Given the description of an element on the screen output the (x, y) to click on. 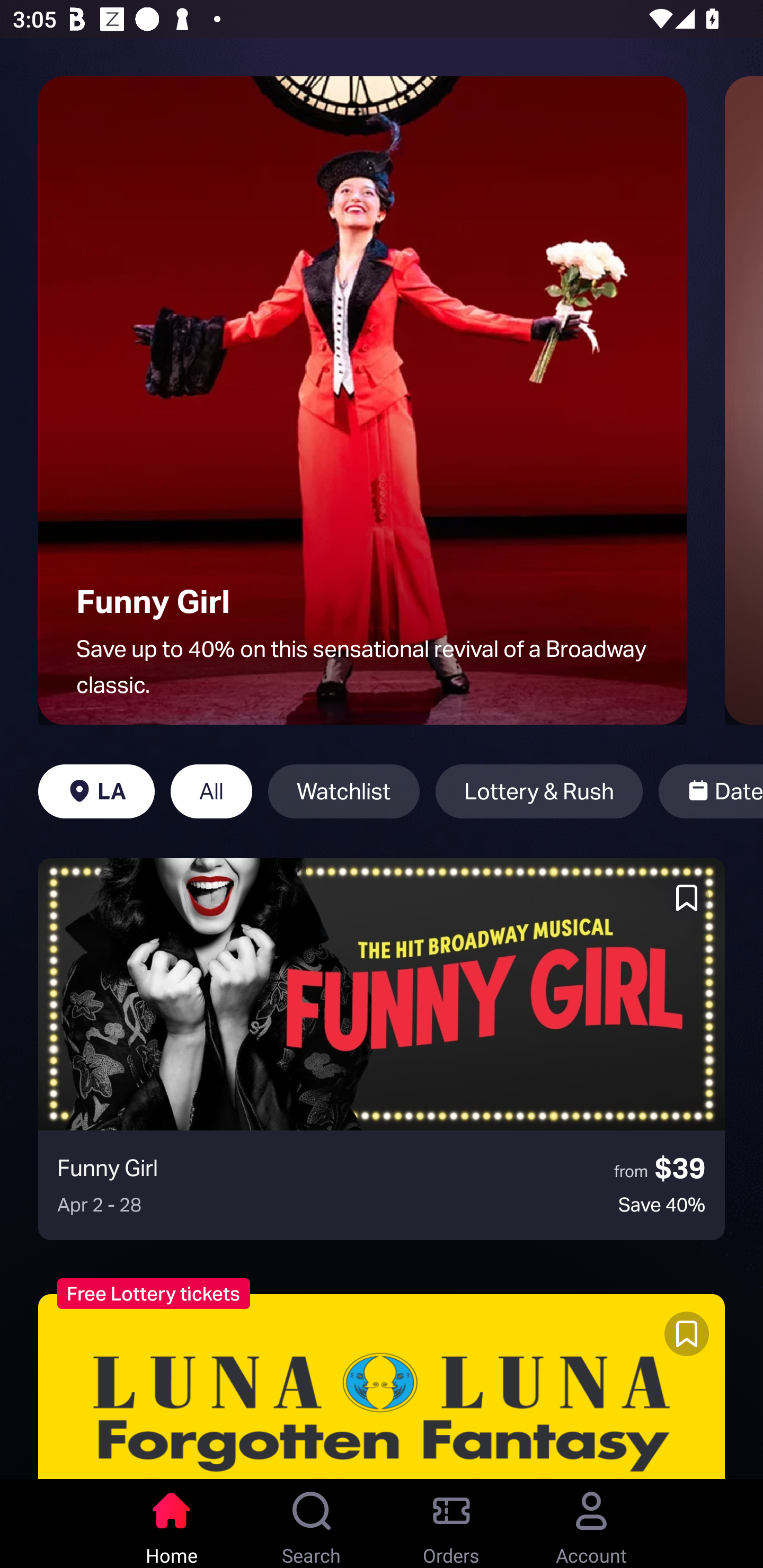
LA (96, 791)
All (211, 791)
Watchlist (343, 791)
Lottery & Rush (538, 791)
Funny Girl from $39 Apr 2 - 28 Save 40% (381, 1048)
Search (311, 1523)
Orders (451, 1523)
Account (591, 1523)
